Given the description of an element on the screen output the (x, y) to click on. 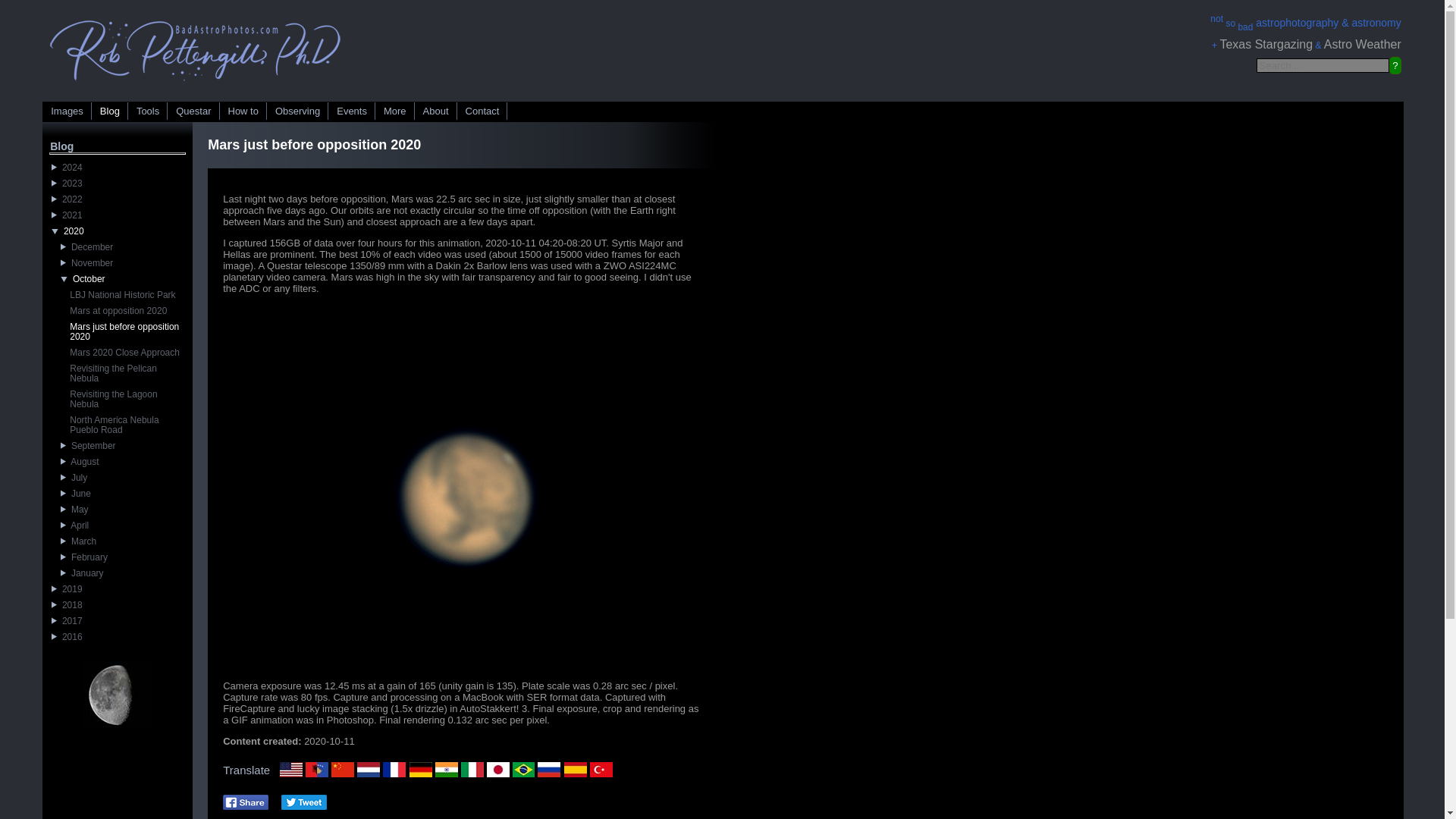
automatic Albanian translation (317, 769)
Tweet on Twitter (303, 801)
automatic Japanese translation (497, 769)
Tools (148, 110)
automatic Spanish translation (575, 769)
Blog (110, 110)
Images (67, 110)
Astro Weather (1361, 43)
automatic Italian translation (472, 769)
original American English (290, 769)
Share on Facebook (244, 801)
automatic Dutch translation (368, 769)
Questar (193, 110)
Texas Stargazing (1266, 43)
